Given the description of an element on the screen output the (x, y) to click on. 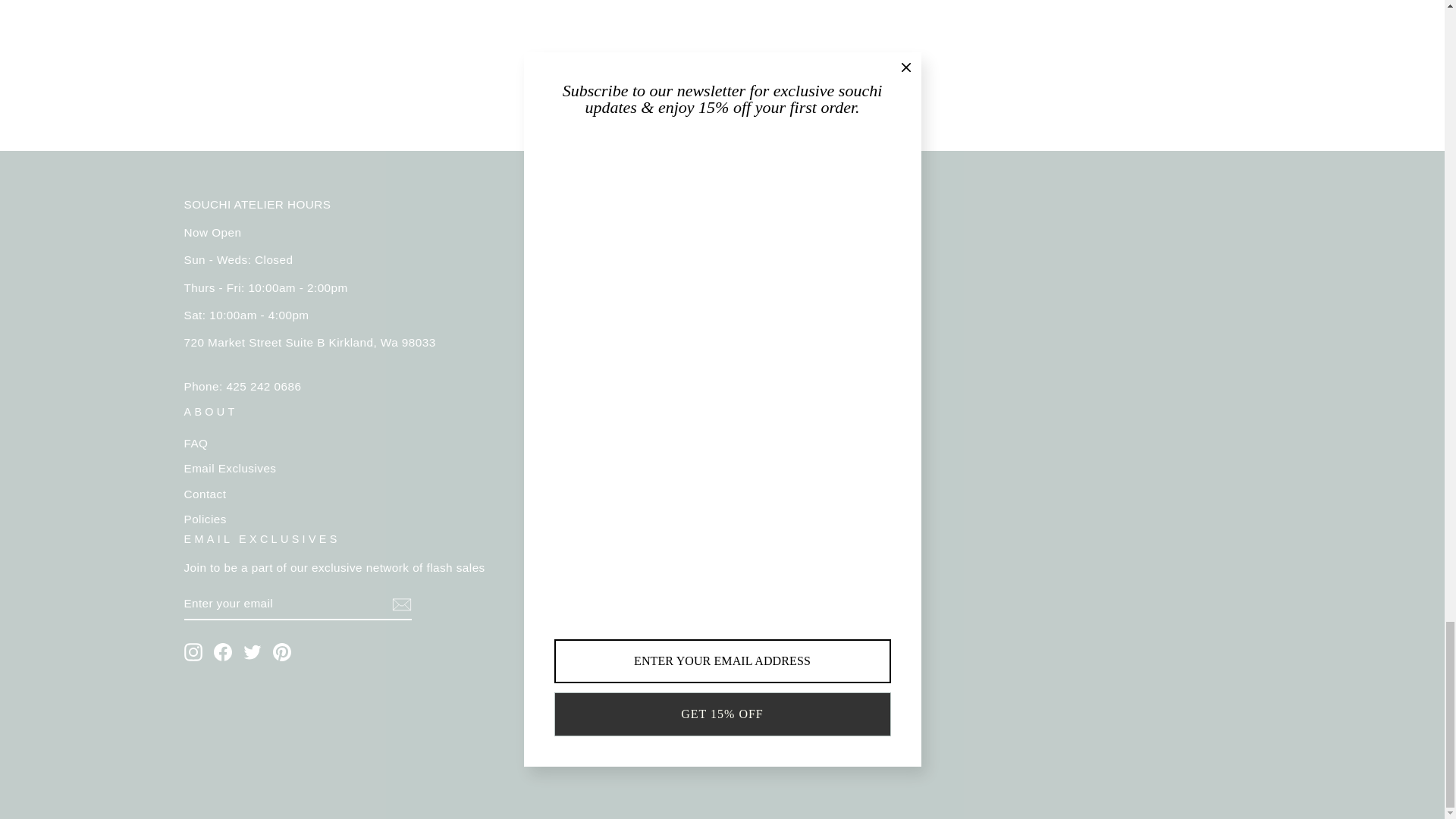
souchi on Twitter (251, 651)
ICON-LEFT-ARROW (629, 73)
icon-email (400, 604)
souchi on Instagram (192, 651)
instagram (192, 651)
souchi on Pinterest (282, 651)
twitter (251, 651)
souchi on Facebook (222, 651)
